Given the description of an element on the screen output the (x, y) to click on. 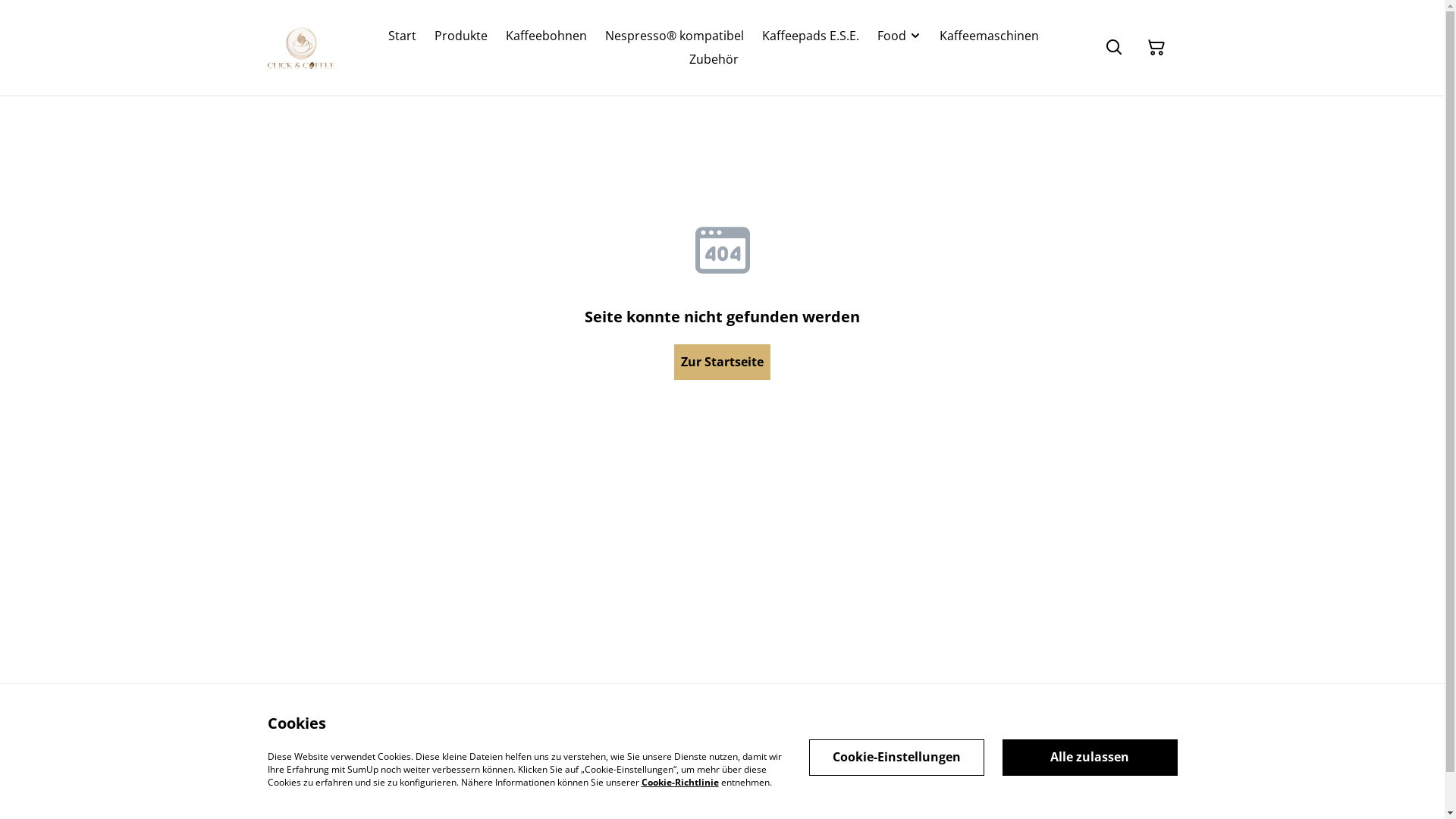
Alle zulassen Element type: text (1089, 757)
Kaffeemaschinen Element type: text (988, 35)
Start Element type: text (402, 35)
Kaffeepads E.S.E. Element type: text (810, 35)
Legal Terms Element type: text (625, 745)
Privacy Policy Element type: text (766, 745)
Zur Startseite Element type: text (722, 361)
Click & Coffee Element type: hover (300, 47)
Contact Us Element type: text (486, 745)
Food Element type: text (891, 35)
Cookie Policy Element type: text (901, 745)
Produkte Element type: text (460, 35)
Cookie-Richtlinie Element type: text (679, 781)
Kaffeebohnen Element type: text (545, 35)
Cookie-Einstellungen Element type: text (895, 757)
